Given the description of an element on the screen output the (x, y) to click on. 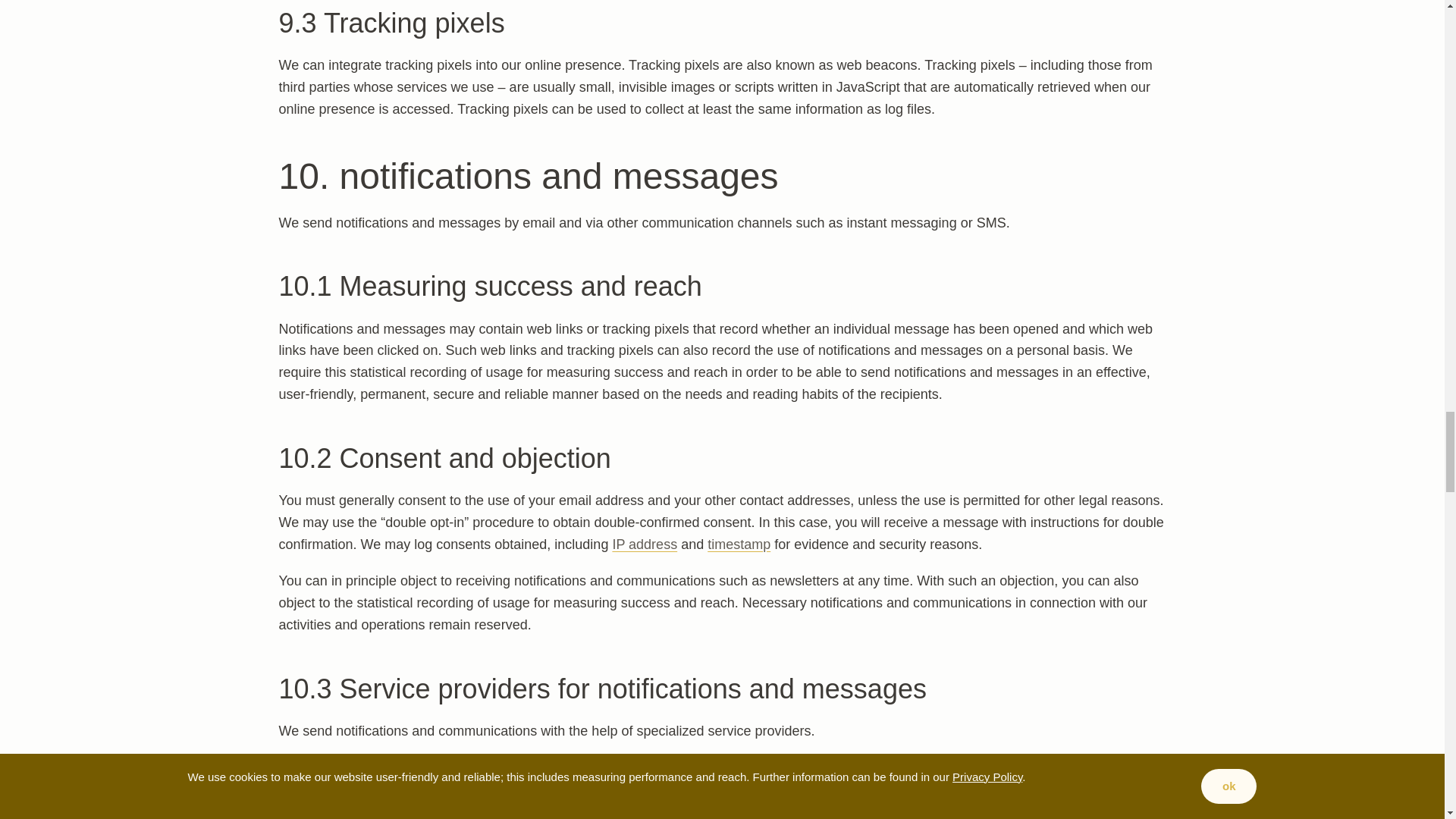
Mailchimp: (335, 805)
IP address (644, 544)
timestamp (738, 544)
subsidiary (1010, 805)
